Given the description of an element on the screen output the (x, y) to click on. 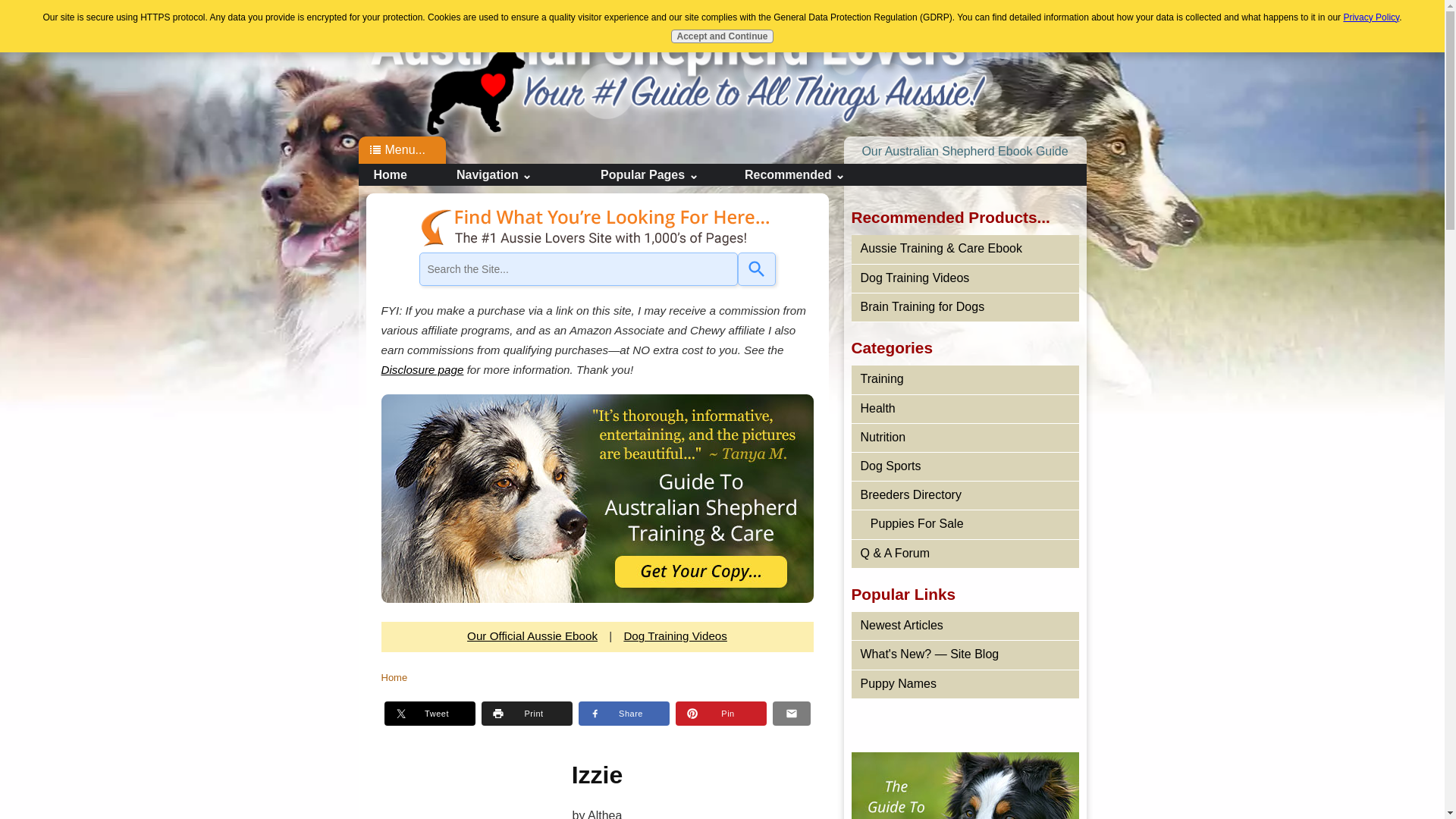
Home          (403, 174)
Menu... (405, 149)
Home (668, 66)
  Home (668, 66)
Our Australian Shepherd Ebook Guide (964, 151)
